Given the description of an element on the screen output the (x, y) to click on. 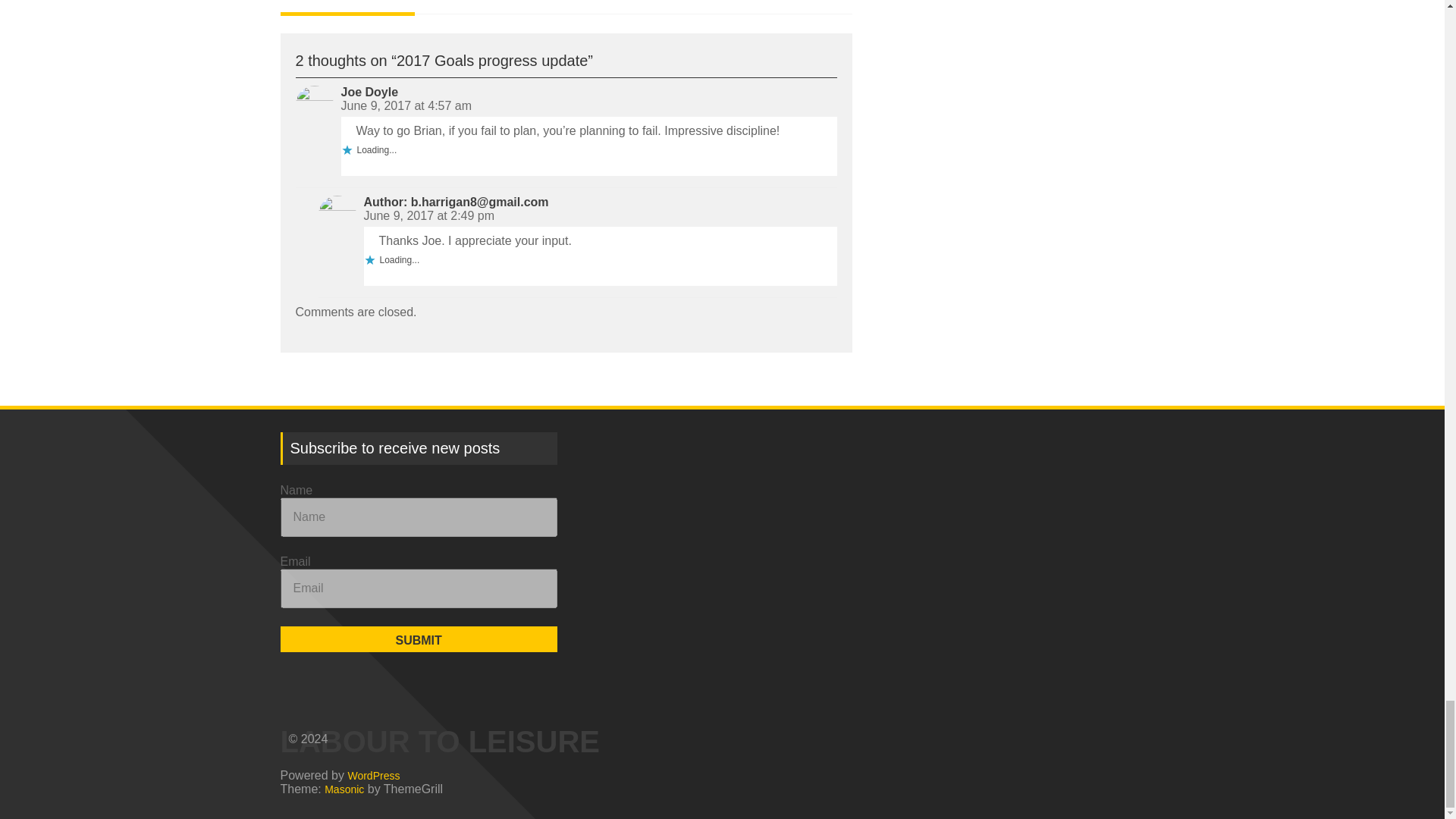
Masonic (344, 788)
WordPress (372, 775)
Submit (419, 638)
June 9, 2017 at 4:57 am (405, 105)
June 9, 2017 at 2:49 pm (429, 215)
Masonic (344, 788)
Submit (419, 638)
WordPress (372, 775)
